Given the description of an element on the screen output the (x, y) to click on. 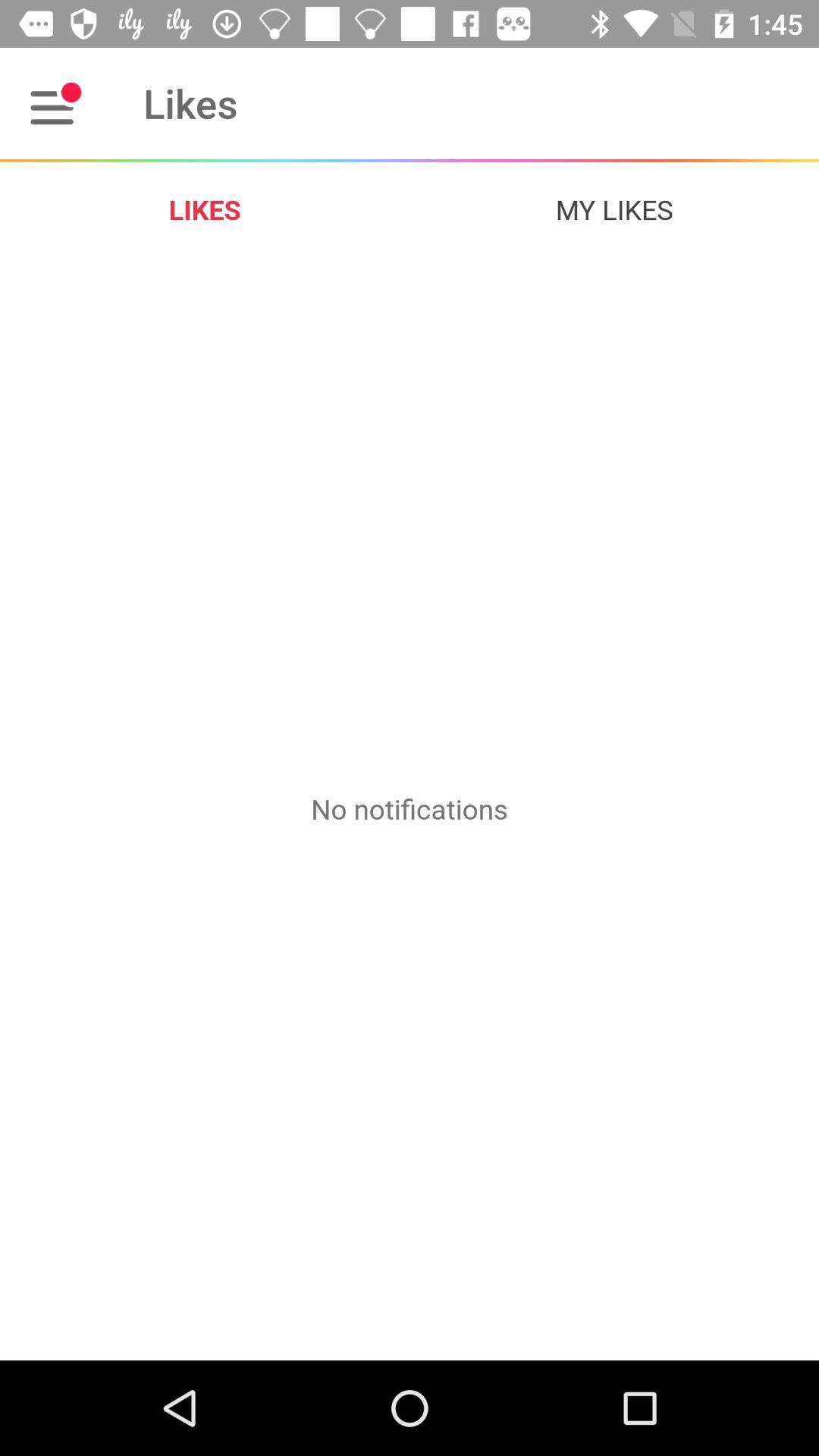
click the icon at the top right corner (614, 209)
